Given the description of an element on the screen output the (x, y) to click on. 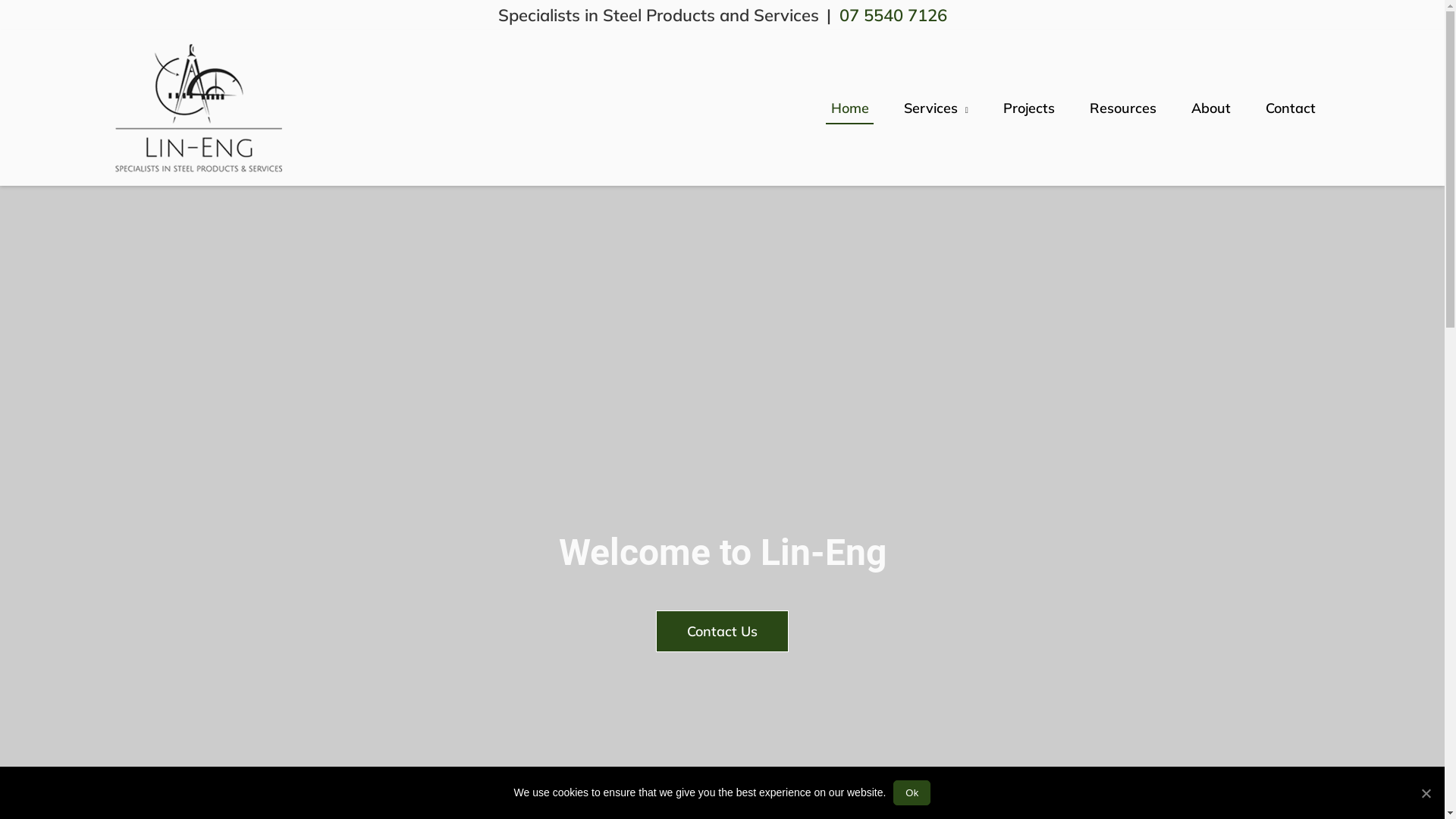
Ok Element type: text (911, 792)
Projects Element type: text (1028, 107)
About Element type: text (1210, 107)
Contact Us Element type: text (721, 631)
Services Element type: text (936, 107)
Resources Element type: text (1123, 107)
Contact Element type: text (1290, 107)
Home Element type: text (849, 107)
07 5540 7126 Element type: text (892, 14)
